Given the description of an element on the screen output the (x, y) to click on. 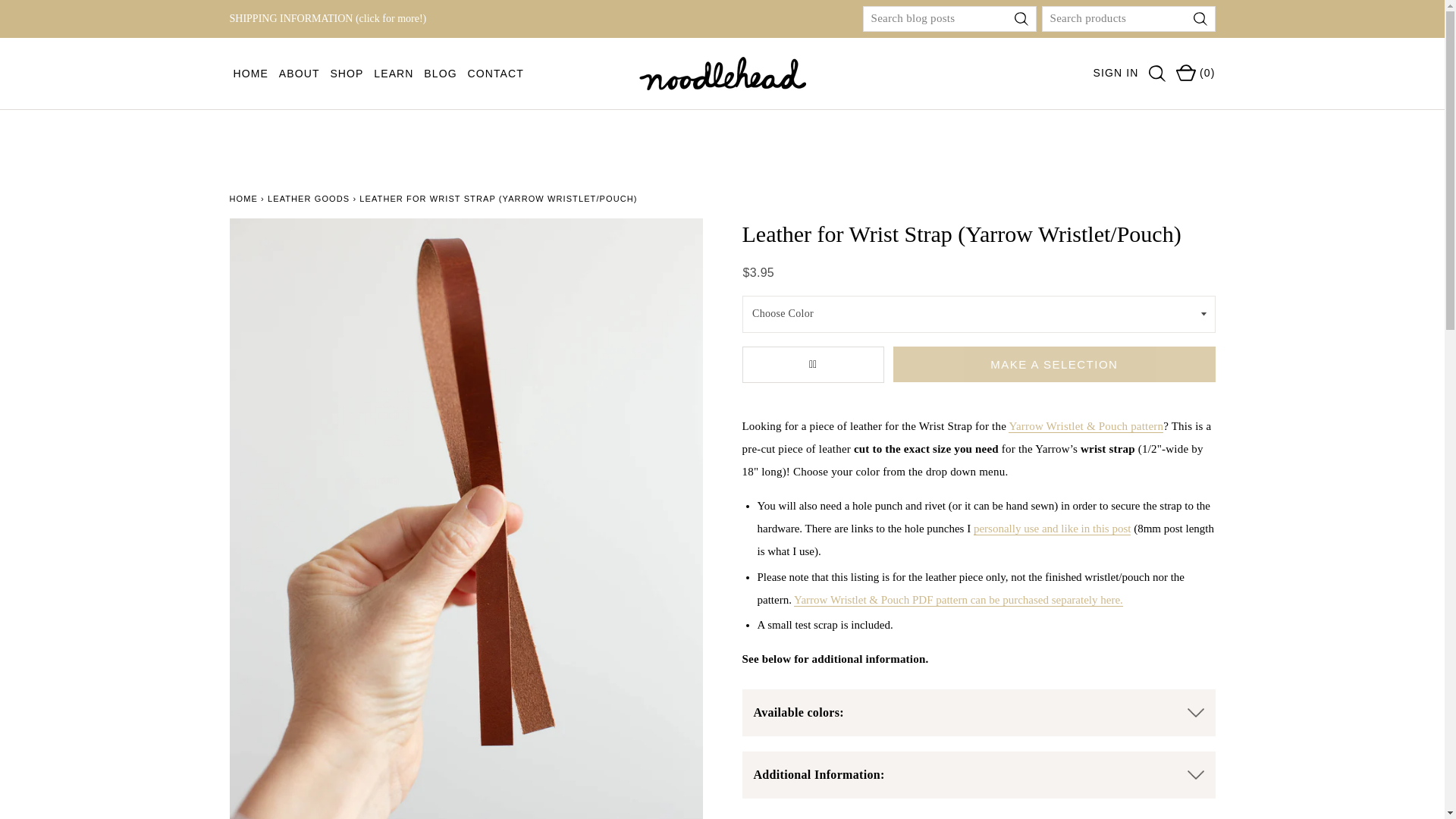
LEARN (392, 73)
Home (242, 198)
HOME (251, 73)
SHOP (346, 73)
ABOUT (299, 73)
